Given the description of an element on the screen output the (x, y) to click on. 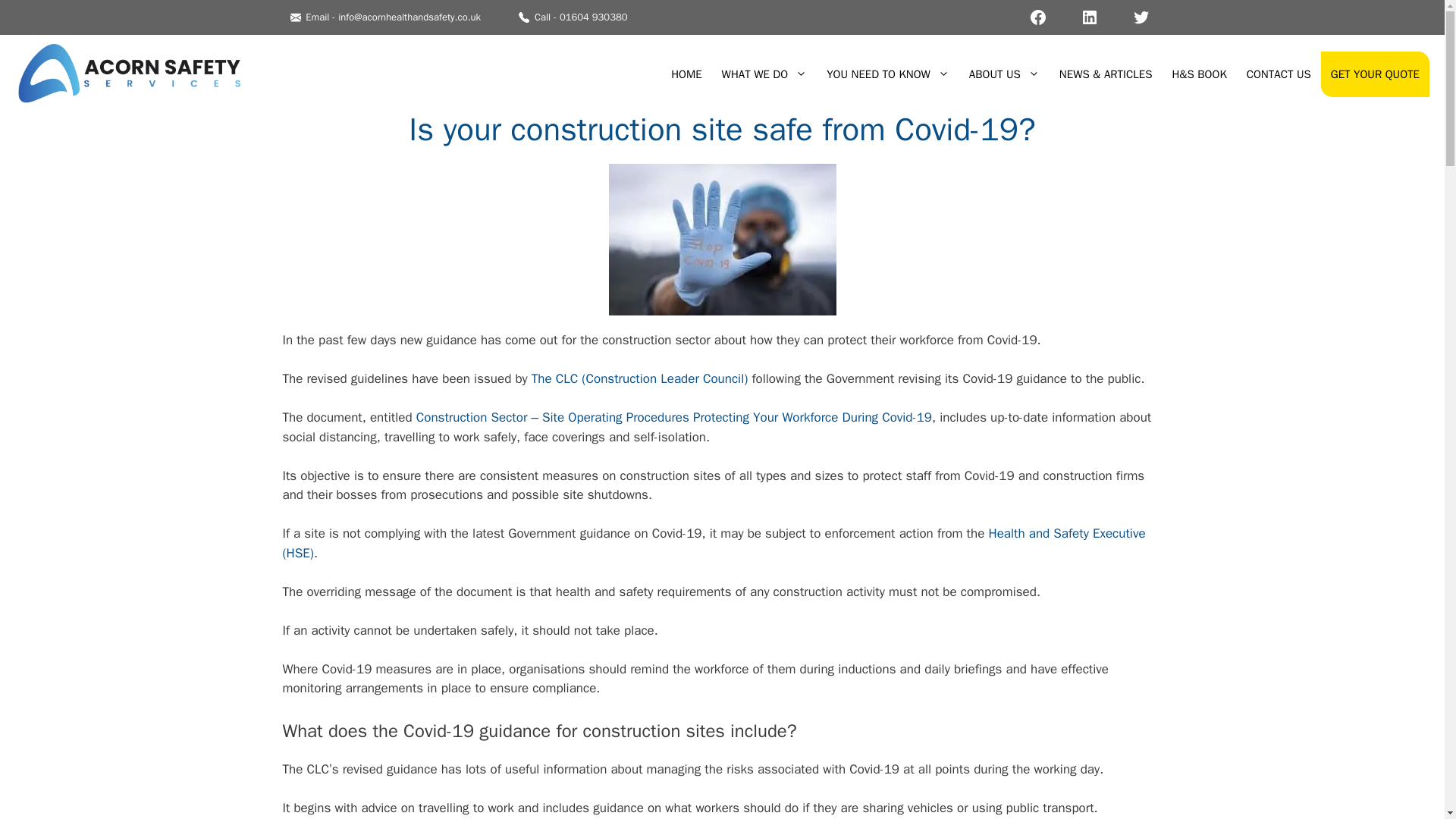
YOU NEED TO KNOW (887, 74)
Acorn Safety Services Linkedin Page (1088, 17)
Acorn Safety Services Twitter Page (1140, 17)
WHAT WE DO (763, 74)
Call - 01604 930380 (572, 17)
HOME (686, 74)
Acorn Safety Services Facebook Page (1037, 17)
